Given the description of an element on the screen output the (x, y) to click on. 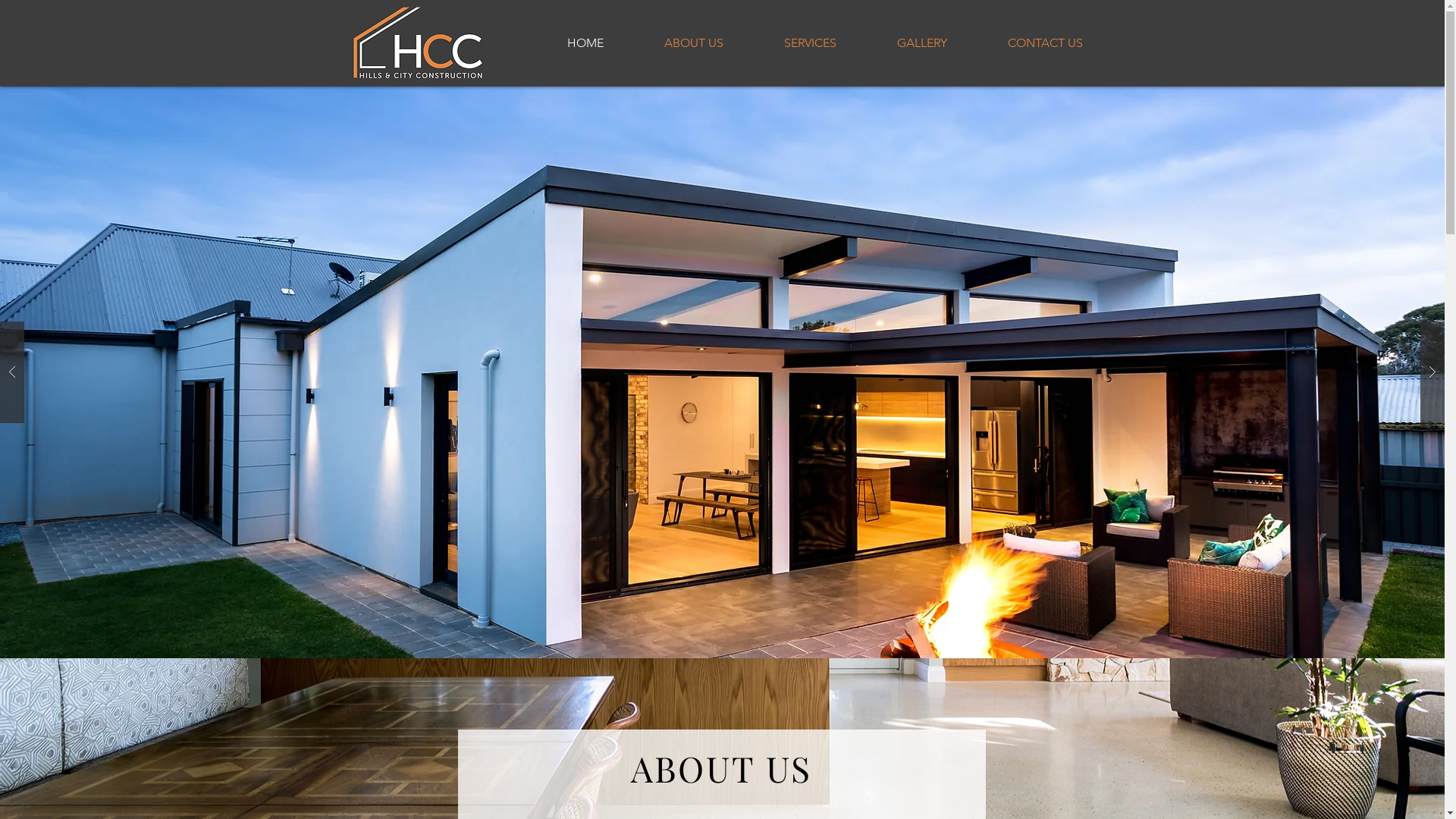
ABOUT US Element type: text (674, 43)
GALLERY Element type: text (902, 43)
SERVICES Element type: text (790, 43)
HOME Element type: text (565, 43)
CONTACT US Element type: text (1026, 43)
